Given the description of an element on the screen output the (x, y) to click on. 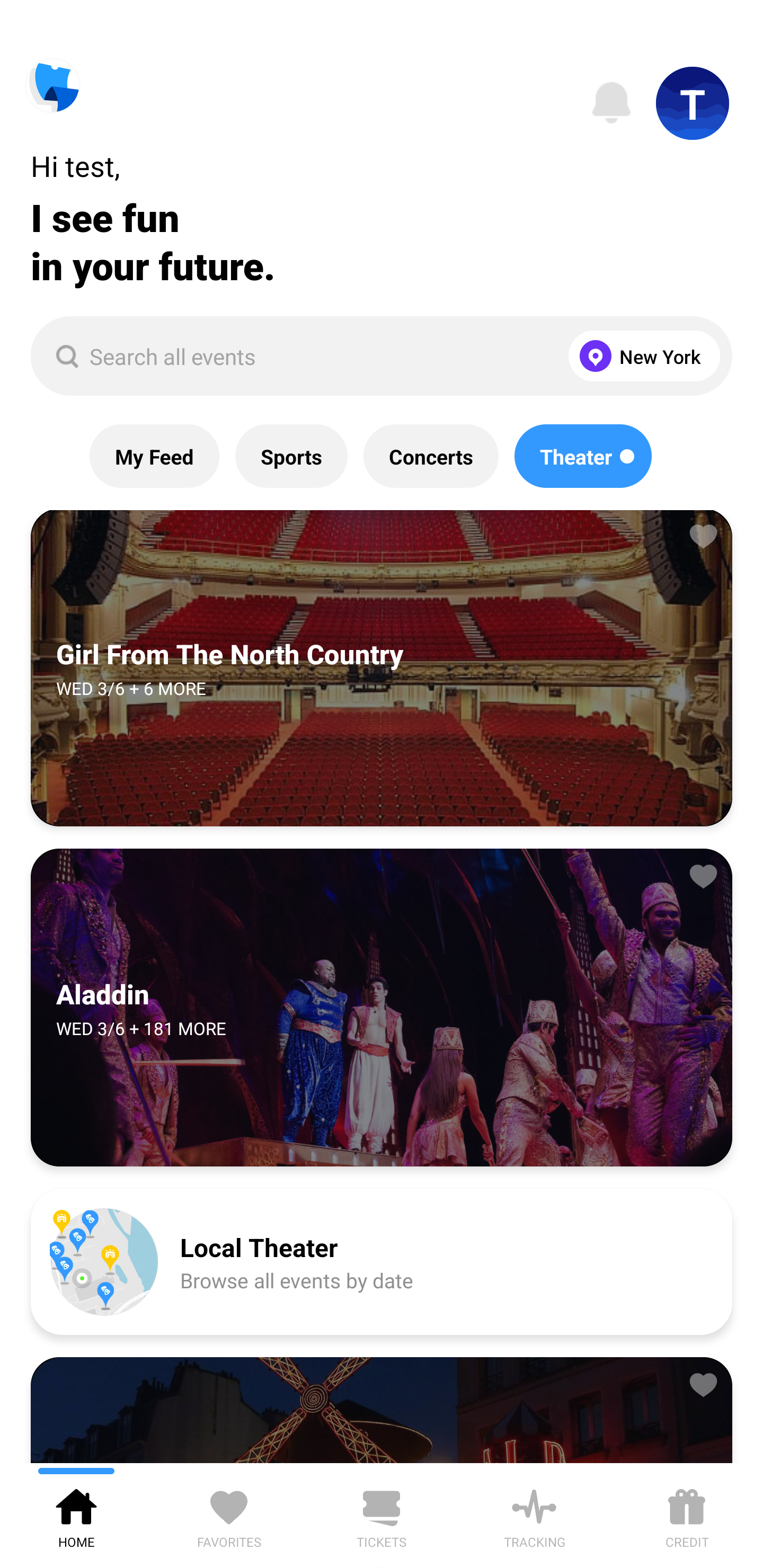
T (692, 103)
New York (640, 355)
My Feed (154, 455)
Sports (291, 455)
Concerts (430, 455)
Theater (582, 455)
HOME (76, 1515)
FAVORITES (228, 1515)
TICKETS (381, 1515)
TRACKING (533, 1515)
CREDIT (686, 1515)
